Given the description of an element on the screen output the (x, y) to click on. 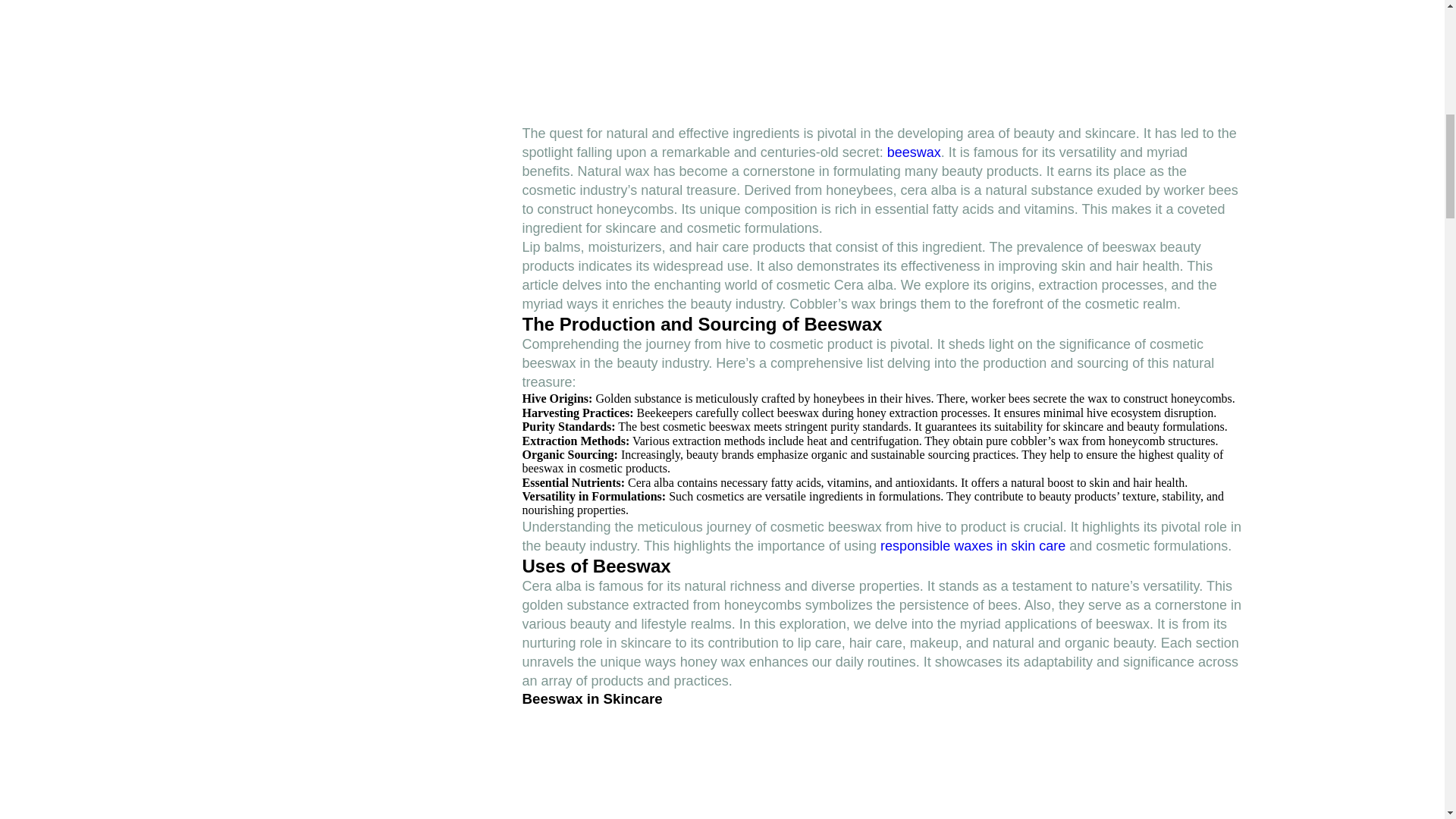
beeswax (913, 151)
responsible waxes in skin care (972, 545)
